Given the description of an element on the screen output the (x, y) to click on. 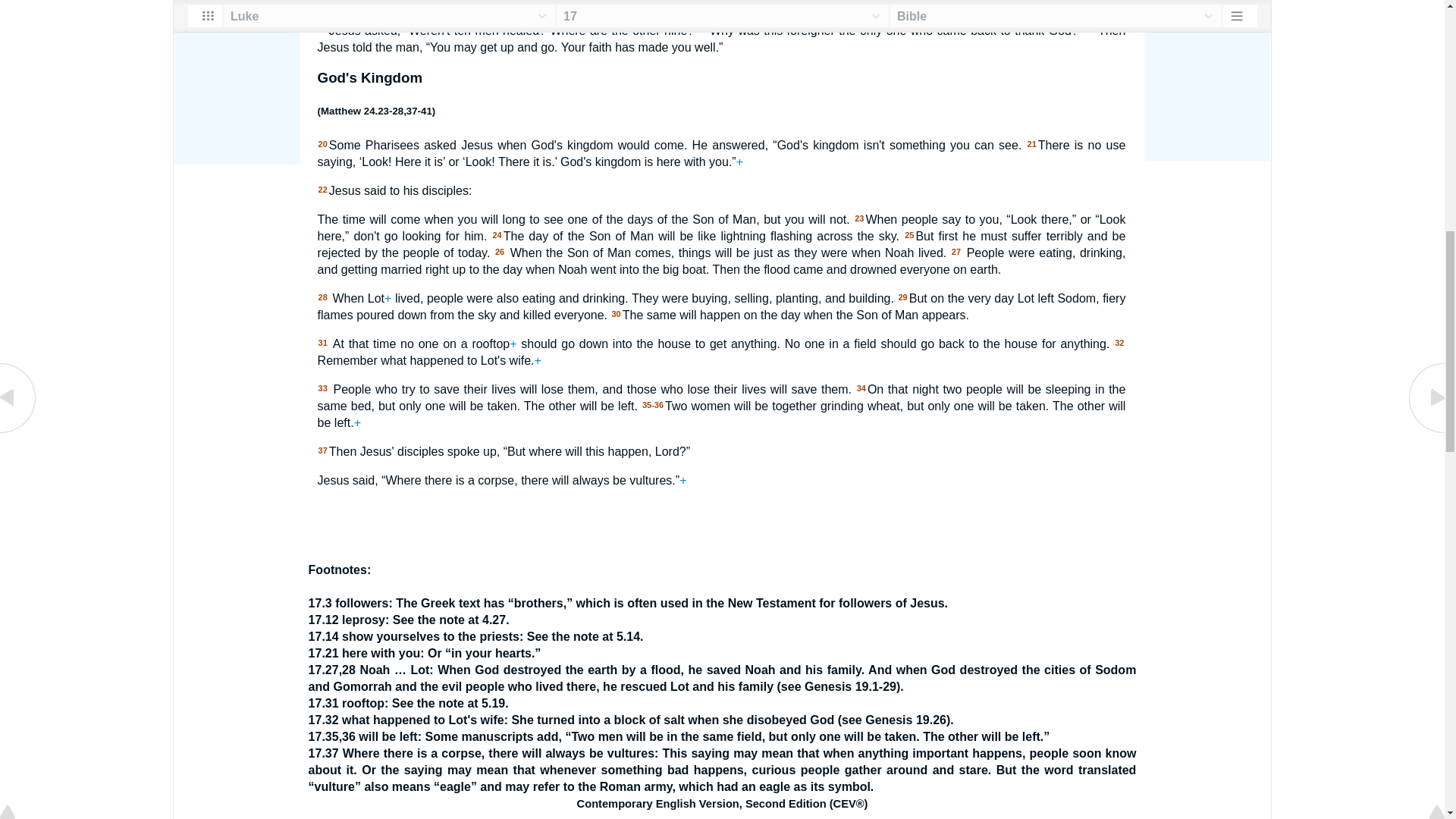
Top of Page (18, 1)
